Given the description of an element on the screen output the (x, y) to click on. 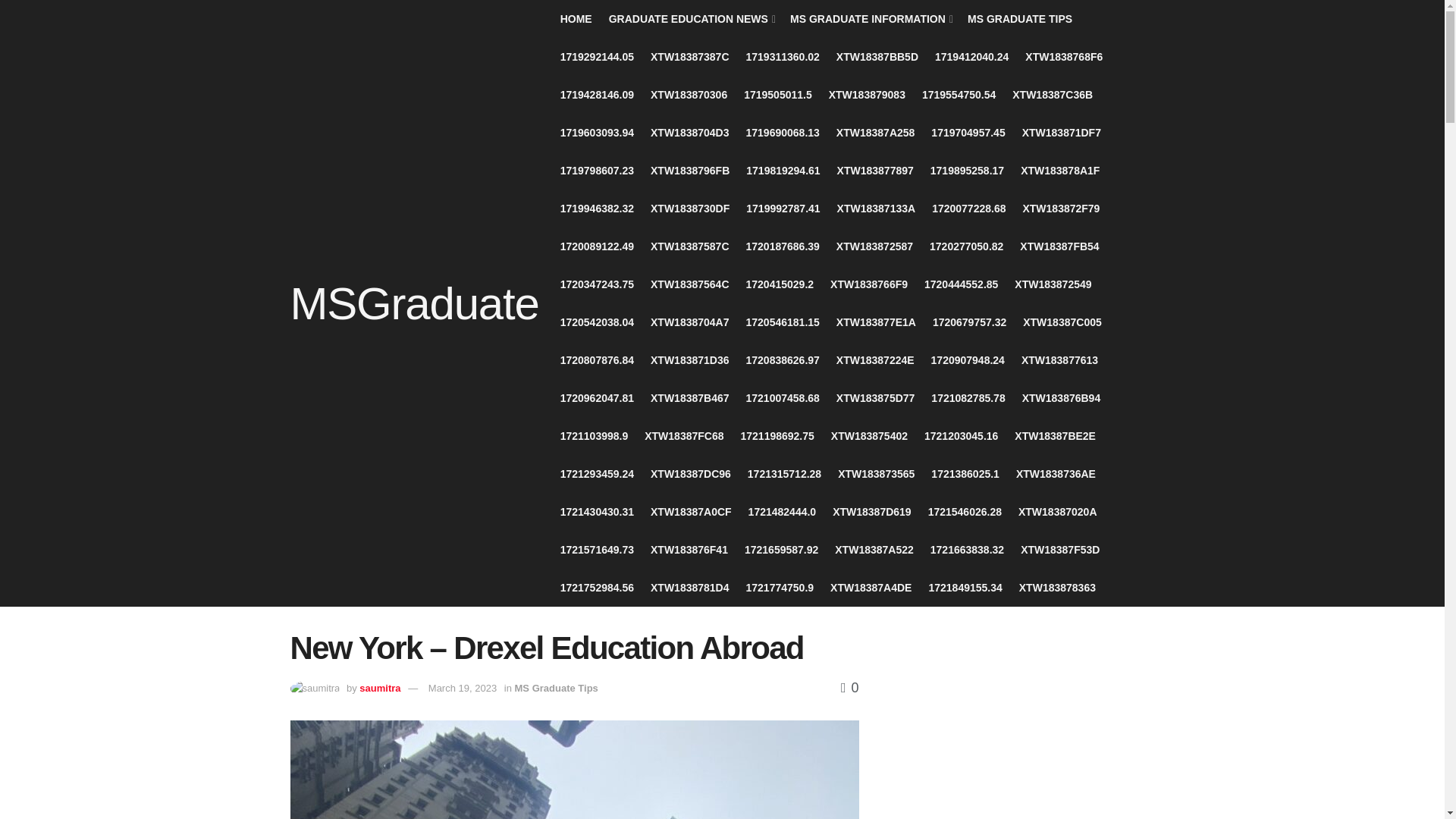
1719798607.23 (596, 170)
1720187686.39 (782, 246)
XTW18387C36B (1052, 94)
1719992787.41 (782, 208)
1719505011.5 (778, 94)
XTW183871DF7 (1061, 132)
XTW183878A1F (1059, 170)
1720077228.68 (968, 208)
XTW183877897 (875, 170)
GRADUATE EDUCATION NEWS (690, 18)
MSGraduate (413, 303)
XTW1838796FB (689, 170)
XTW18387BB5D (876, 56)
XTW1838704D3 (689, 132)
1719554750.54 (958, 94)
